Given the description of an element on the screen output the (x, y) to click on. 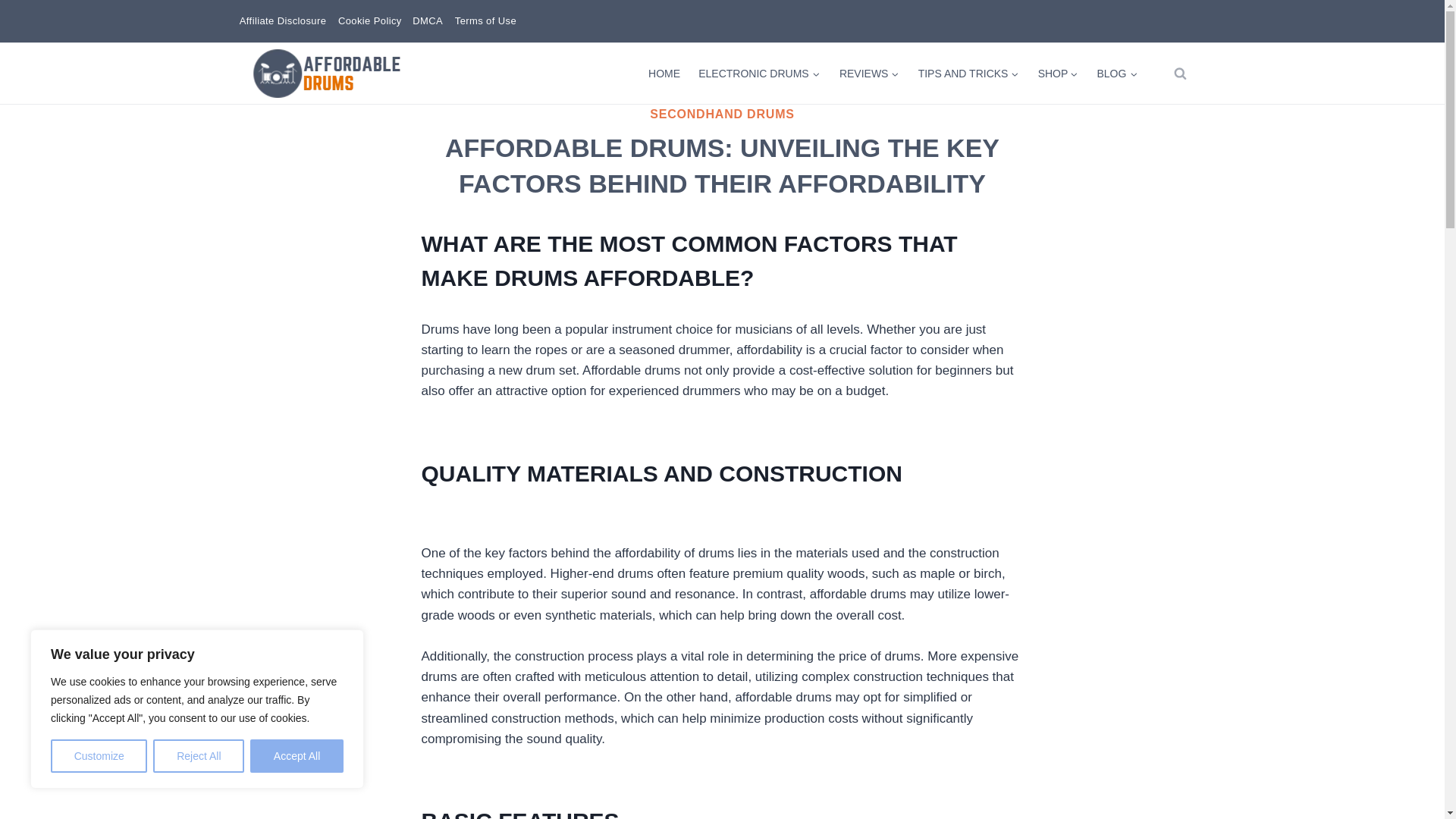
Accept All (296, 756)
Terms of Use (485, 21)
Cookie Policy (369, 21)
Customize (98, 756)
SHOP (1057, 73)
ELECTRONIC DRUMS (758, 73)
REVIEWS (868, 73)
DMCA (427, 21)
Affiliate Disclosure (281, 21)
TIPS AND TRICKS (967, 73)
Reject All (198, 756)
HOME (663, 73)
